Given the description of an element on the screen output the (x, y) to click on. 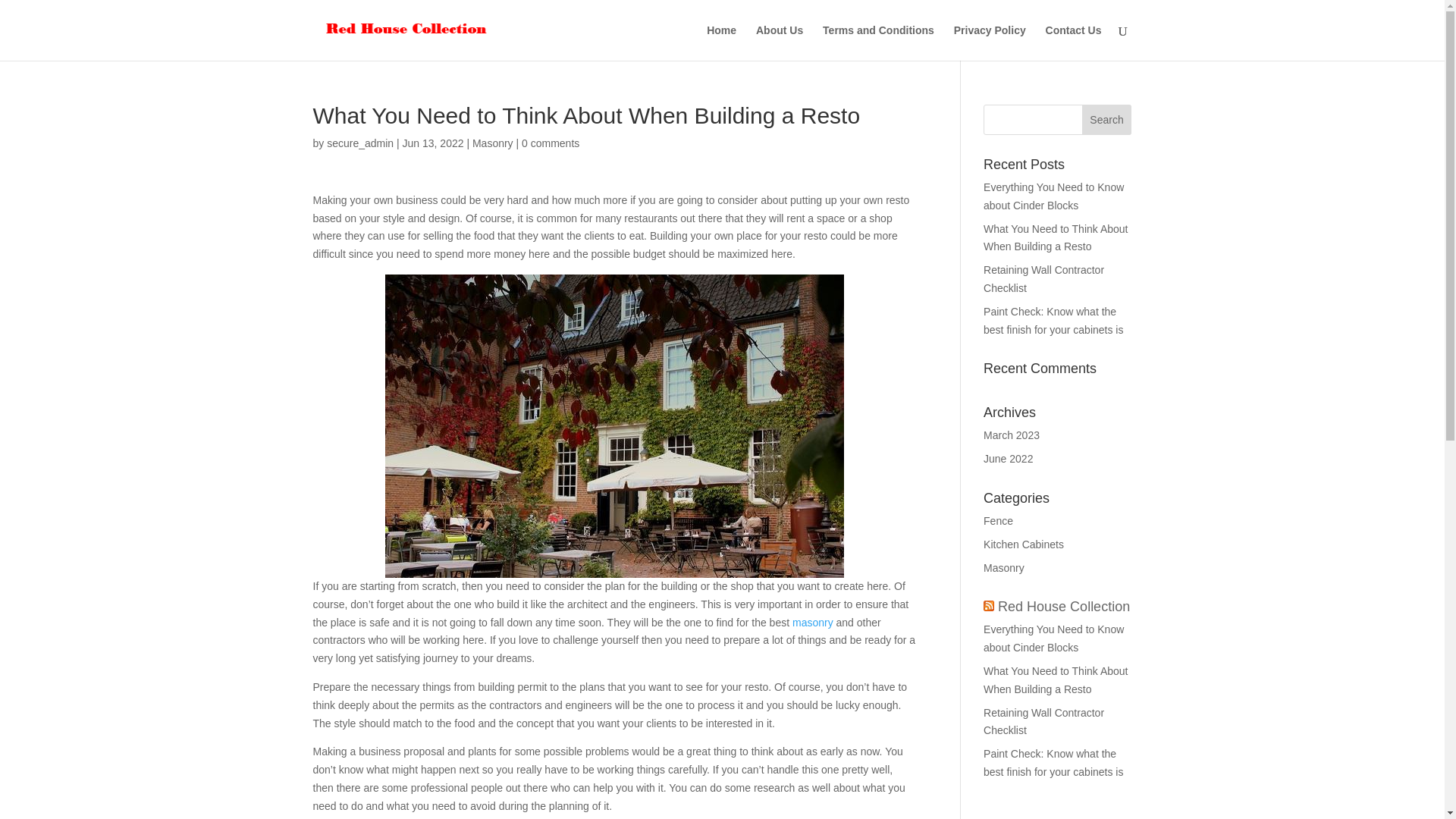
About Us (779, 42)
Red House Collection (1063, 606)
March 2023 (1011, 435)
Terms and Conditions (878, 42)
Masonry (492, 143)
Search (1106, 119)
What You Need to Think About When Building a Resto  (1055, 237)
masonry (812, 622)
Contact Us (1073, 42)
Paint Check: Know what the best finish for your cabinets is  (1054, 762)
